Given the description of an element on the screen output the (x, y) to click on. 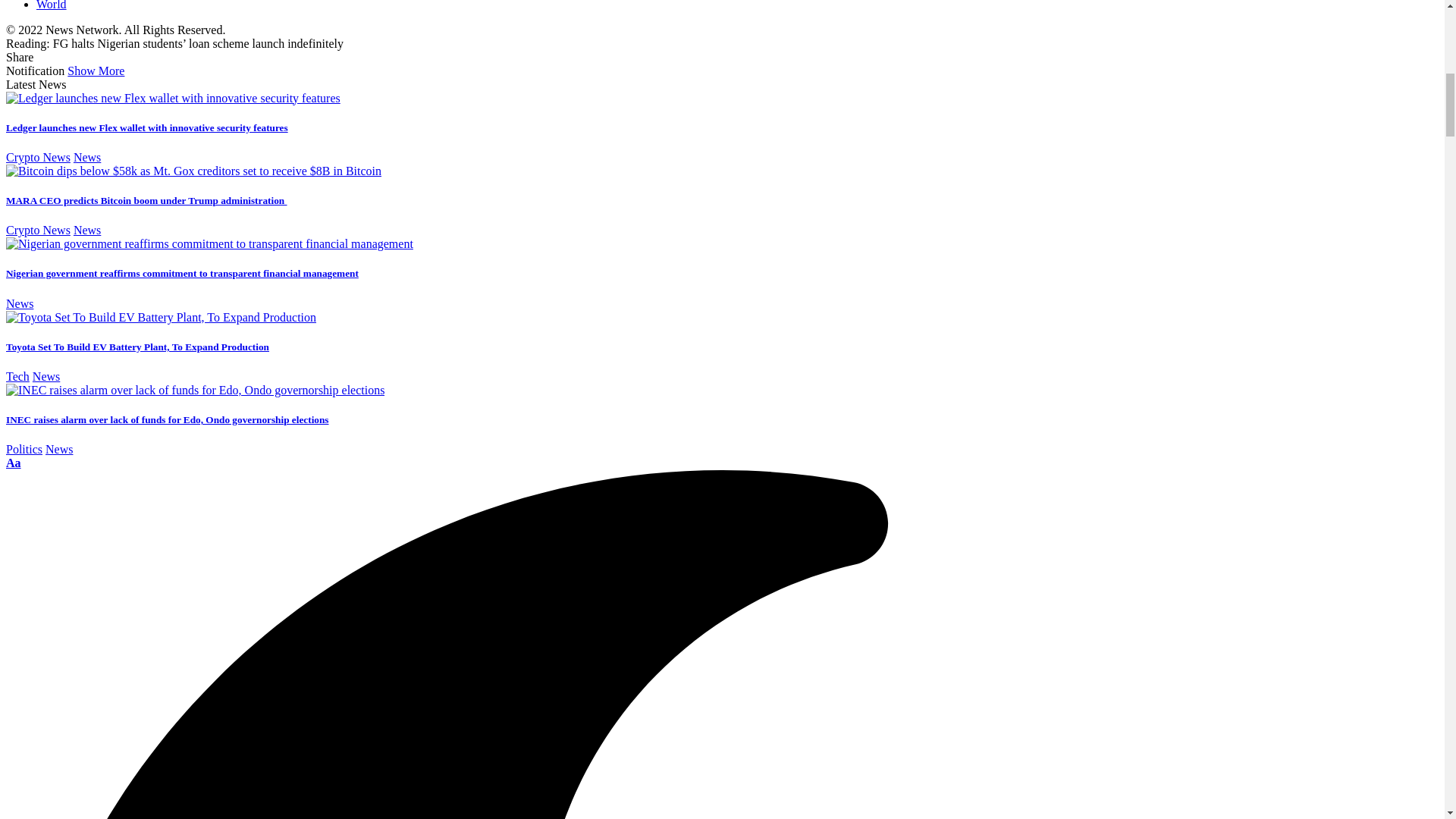
Toyota Set To Build EV Battery Plant, To Expand Production (160, 317)
